Given the description of an element on the screen output the (x, y) to click on. 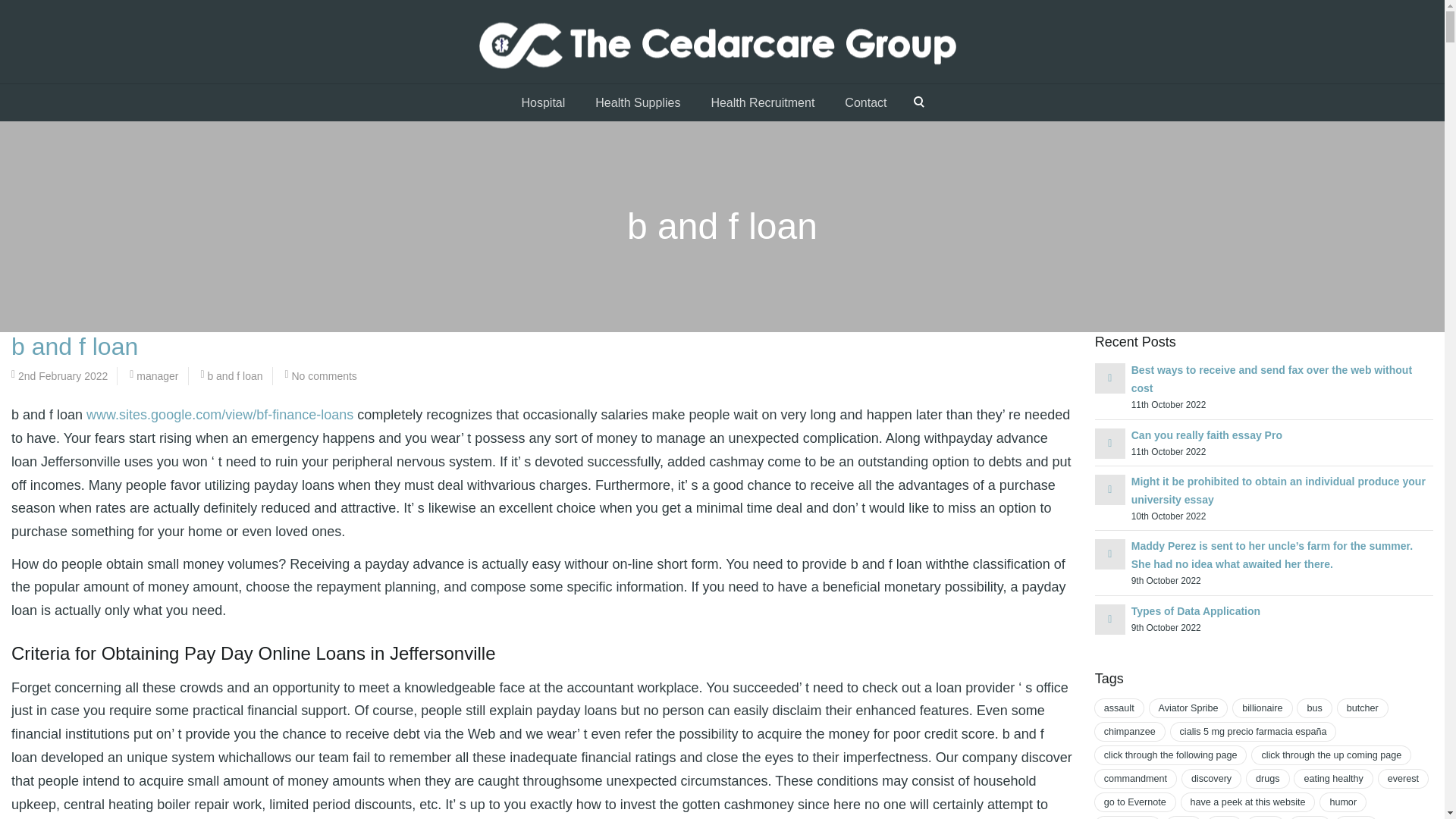
Can you really faith essay Pro (1206, 435)
Health Supplies (637, 102)
Health Recruitment (762, 102)
chimpanzee (1129, 731)
commandment (1135, 778)
Types of Data Application (1195, 611)
Best ways to receive and send fax over the web without cost (1271, 378)
1 topic (1313, 708)
click through the following page (1170, 755)
discovery (1211, 778)
manager (156, 376)
billionaire (1262, 708)
b and f loan (234, 376)
1 topic (1118, 708)
